Given the description of an element on the screen output the (x, y) to click on. 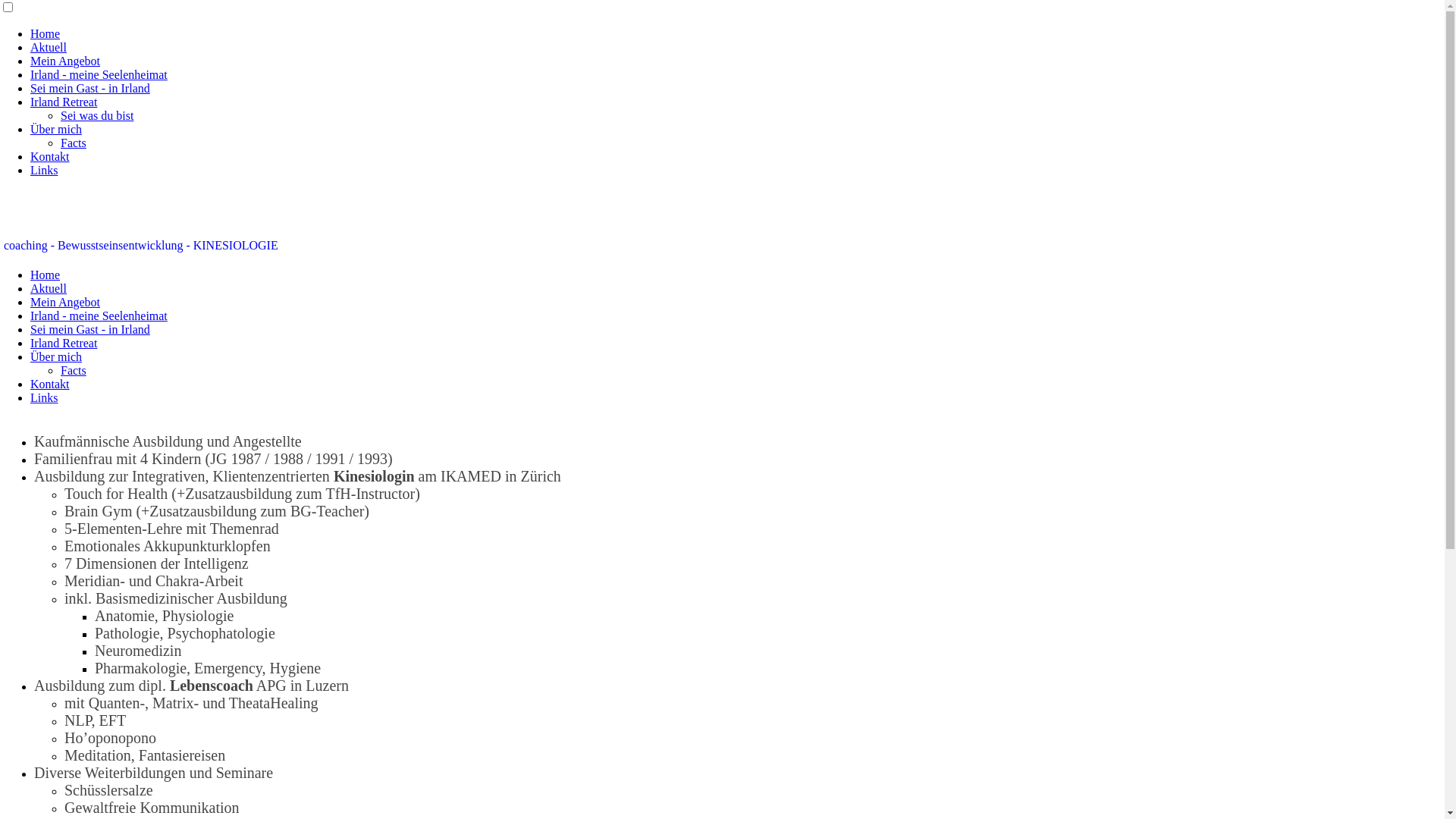
Facts Element type: text (73, 370)
Home Element type: text (44, 274)
Kontakt Element type: text (49, 383)
Mein Angebot Element type: text (65, 60)
Irland Retreat Element type: text (63, 342)
Aktuell Element type: text (48, 288)
Sei mein Gast - in Irland Element type: text (90, 87)
Sei was du bist Element type: text (96, 115)
Irland - meine Seelenheimat Element type: text (98, 74)
Mein Angebot Element type: text (65, 301)
Links Element type: text (43, 169)
Facts Element type: text (73, 142)
Links Element type: text (43, 397)
Aktuell Element type: text (48, 46)
Home Element type: text (44, 33)
Irland - meine Seelenheimat Element type: text (98, 315)
Sei mein Gast - in Irland Element type: text (90, 329)
Kontakt Element type: text (49, 156)
Irland Retreat Element type: text (63, 101)
coaching - Bewusstseinsentwicklung - KINESIOLOGIE Element type: text (140, 244)
